Given the description of an element on the screen output the (x, y) to click on. 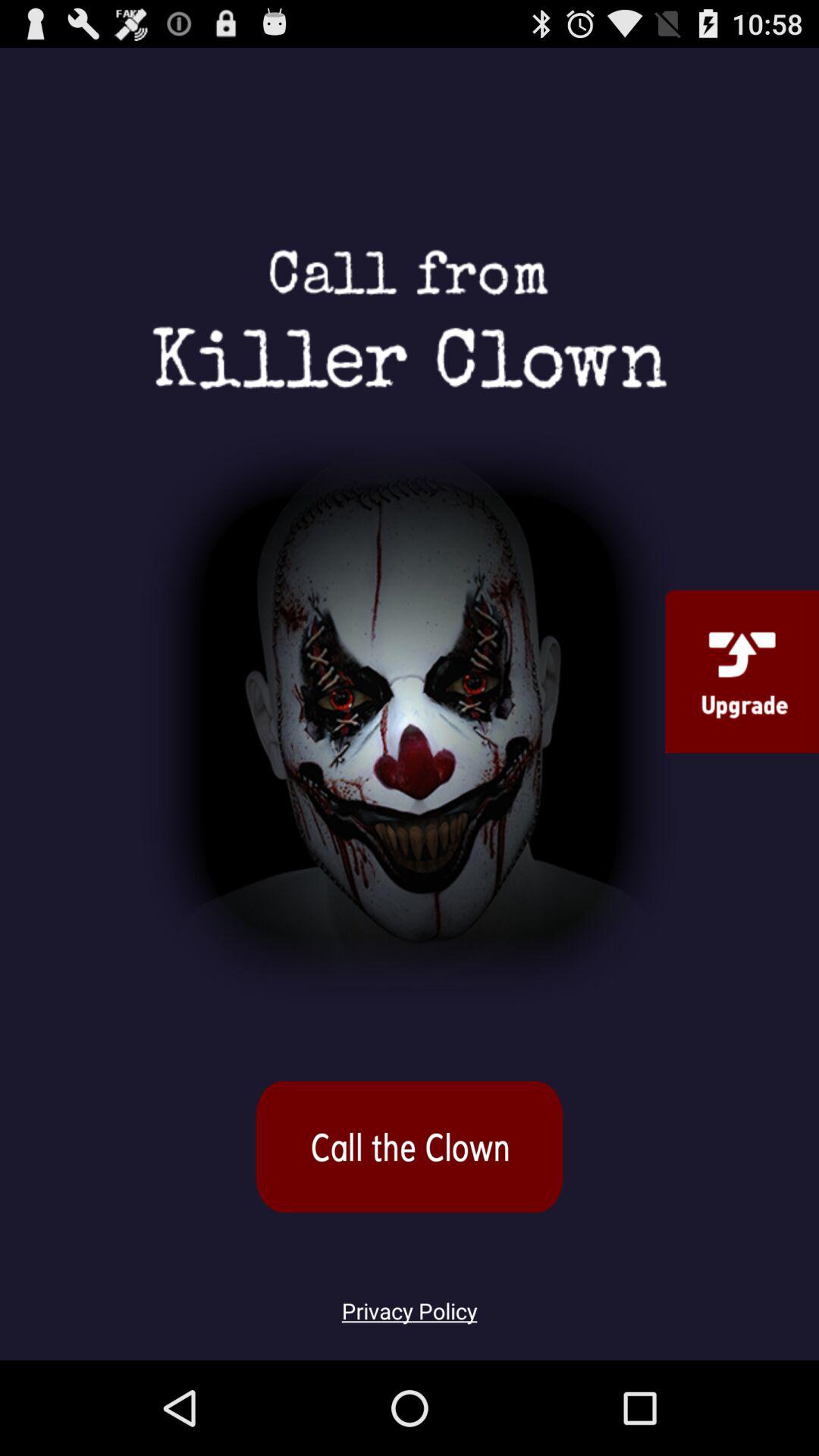
call the clown button (409, 1146)
